Given the description of an element on the screen output the (x, y) to click on. 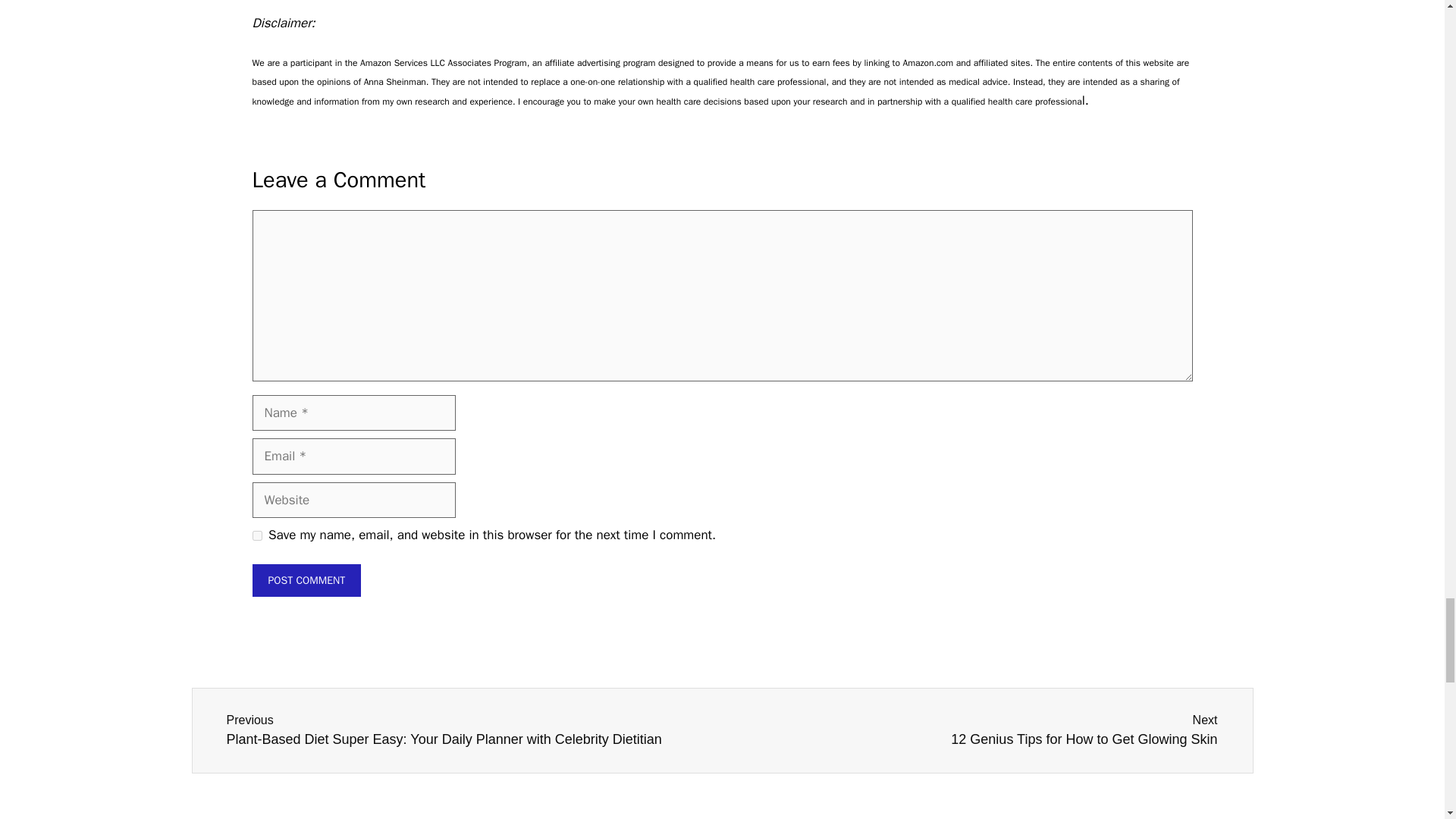
yes (256, 535)
Post Comment (306, 580)
Post Comment (975, 730)
